Given the description of an element on the screen output the (x, y) to click on. 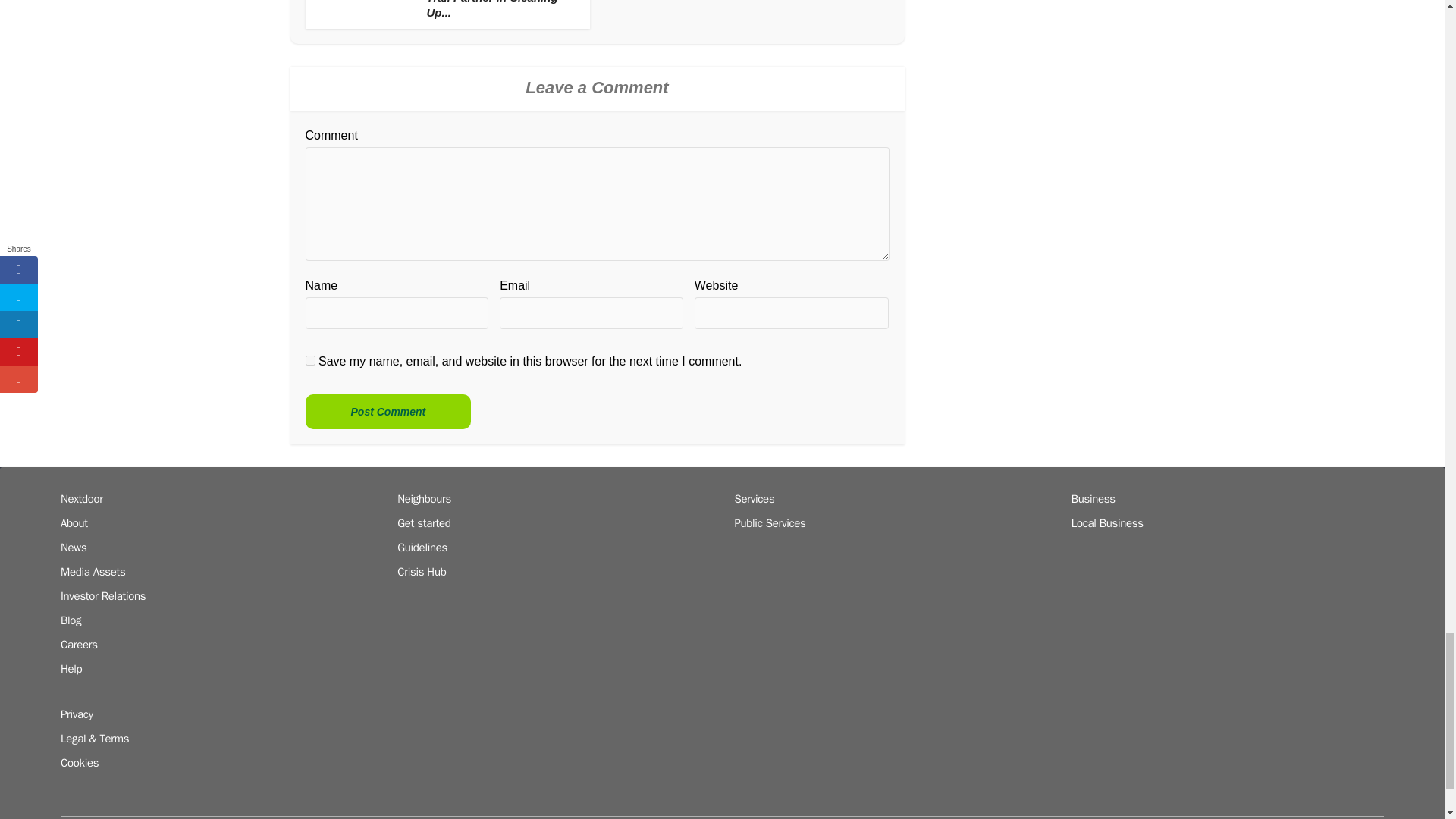
yes (309, 360)
Post Comment (387, 411)
Nextdoor And Garage Sale Trail Partner In Cleaning Up... (498, 9)
Post Comment (387, 411)
